Given the description of an element on the screen output the (x, y) to click on. 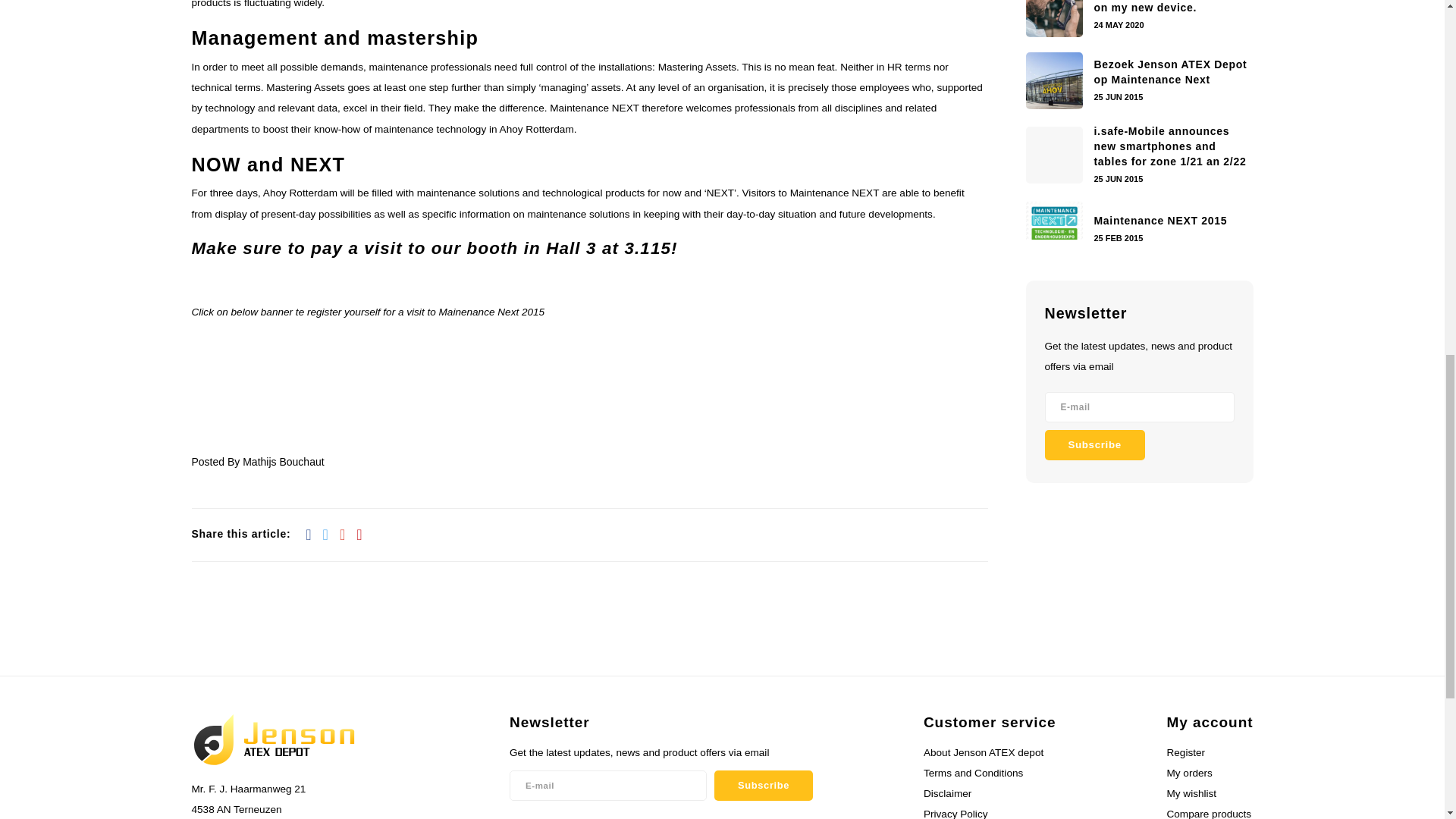
My orders (1188, 772)
Register (1185, 752)
Subscribe (763, 785)
Subscribe (1094, 444)
My wishlist (1190, 793)
